Given the description of an element on the screen output the (x, y) to click on. 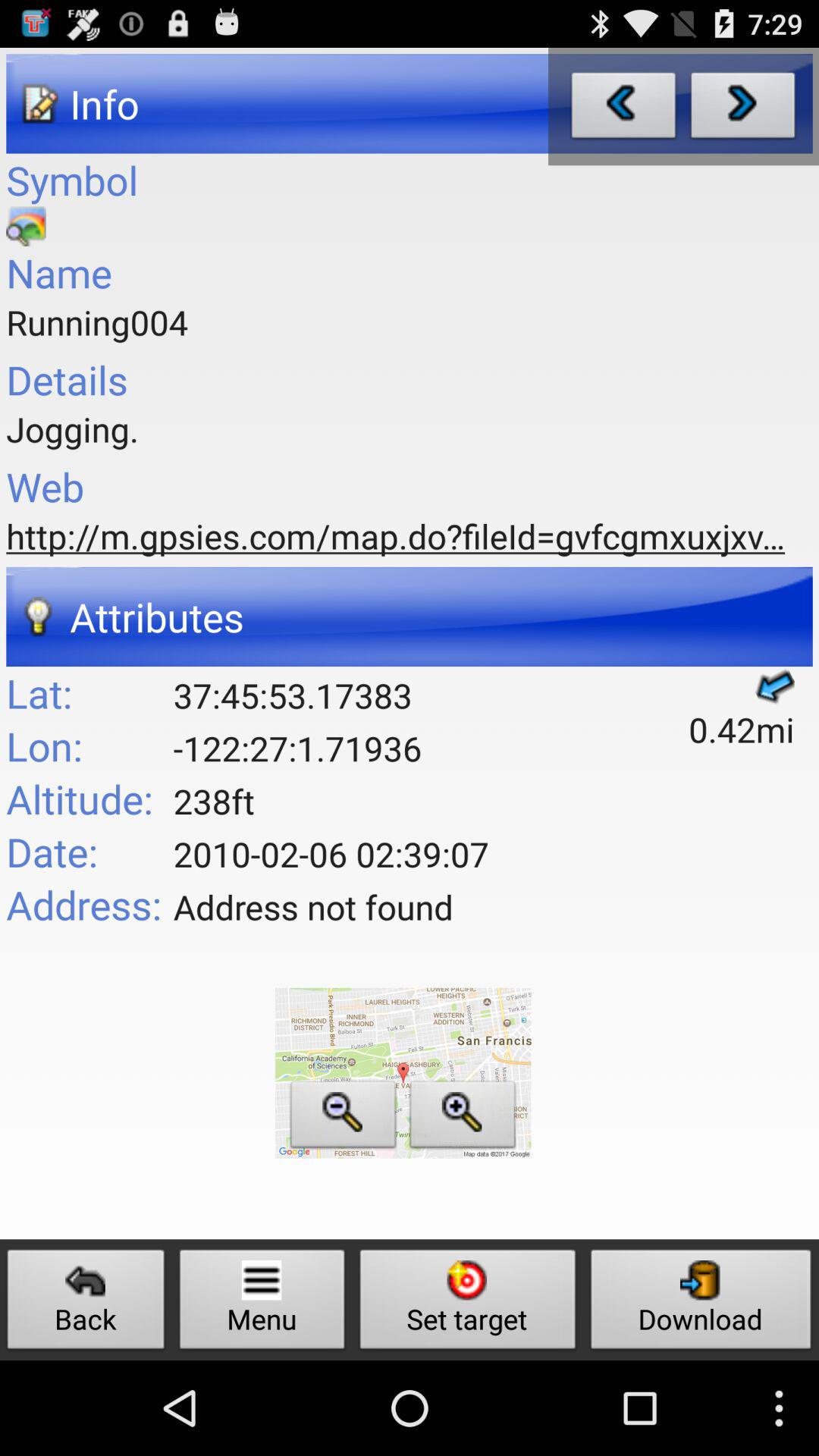
launch the back icon (86, 1303)
